Given the description of an element on the screen output the (x, y) to click on. 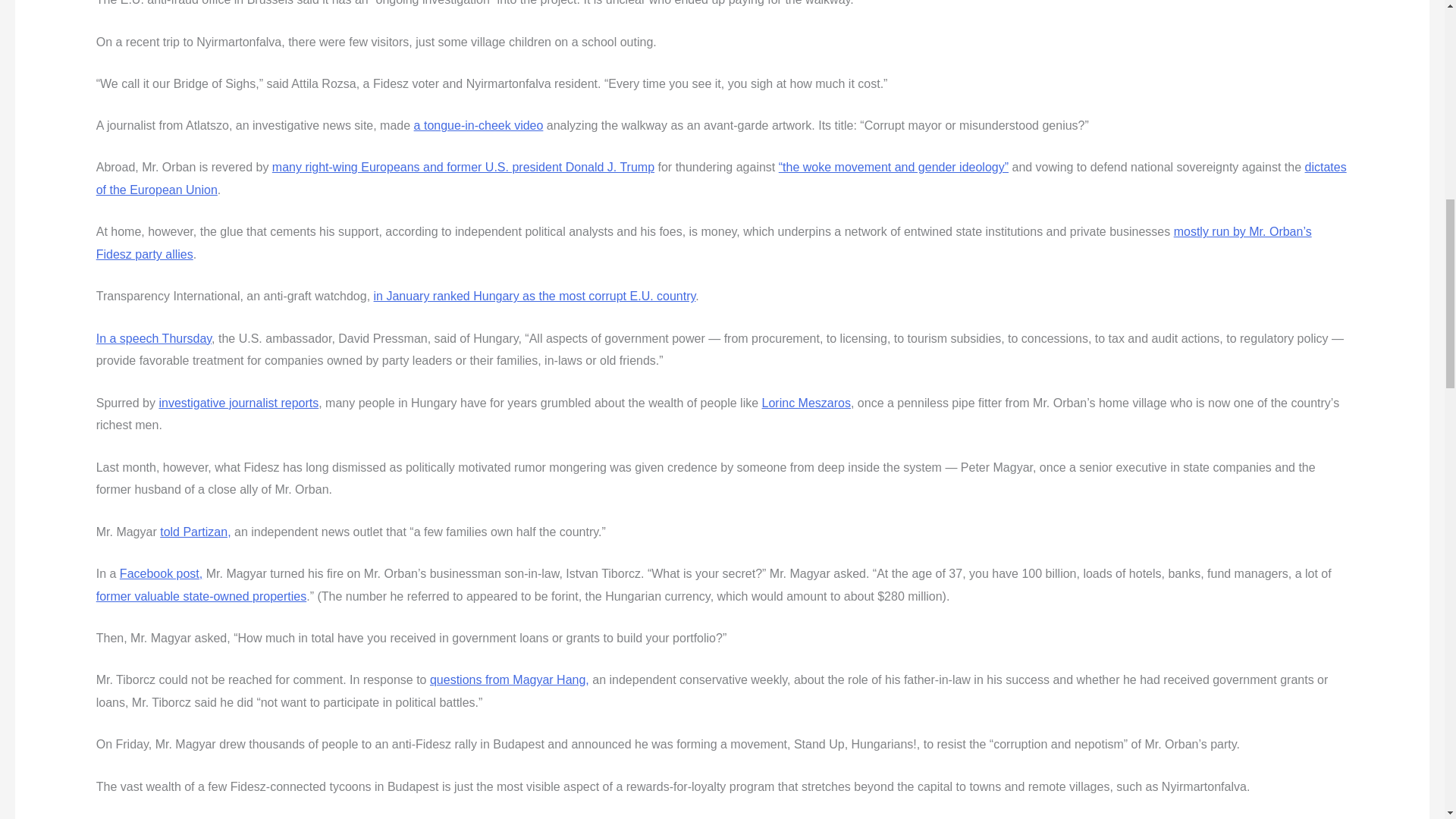
Facebook post, (160, 573)
investigative journali (212, 402)
Lorinc Meszaros (805, 402)
st reports (292, 402)
in January ranked Hungary as the most corrupt E.U. country (534, 295)
dictates of the European Union (721, 178)
former valuable state-owned properties (200, 595)
told Partizan, (195, 531)
a tongue-in-cheek video (478, 124)
In a speech Thursday (153, 338)
questions from Magyar Hang, (509, 679)
